Given the description of an element on the screen output the (x, y) to click on. 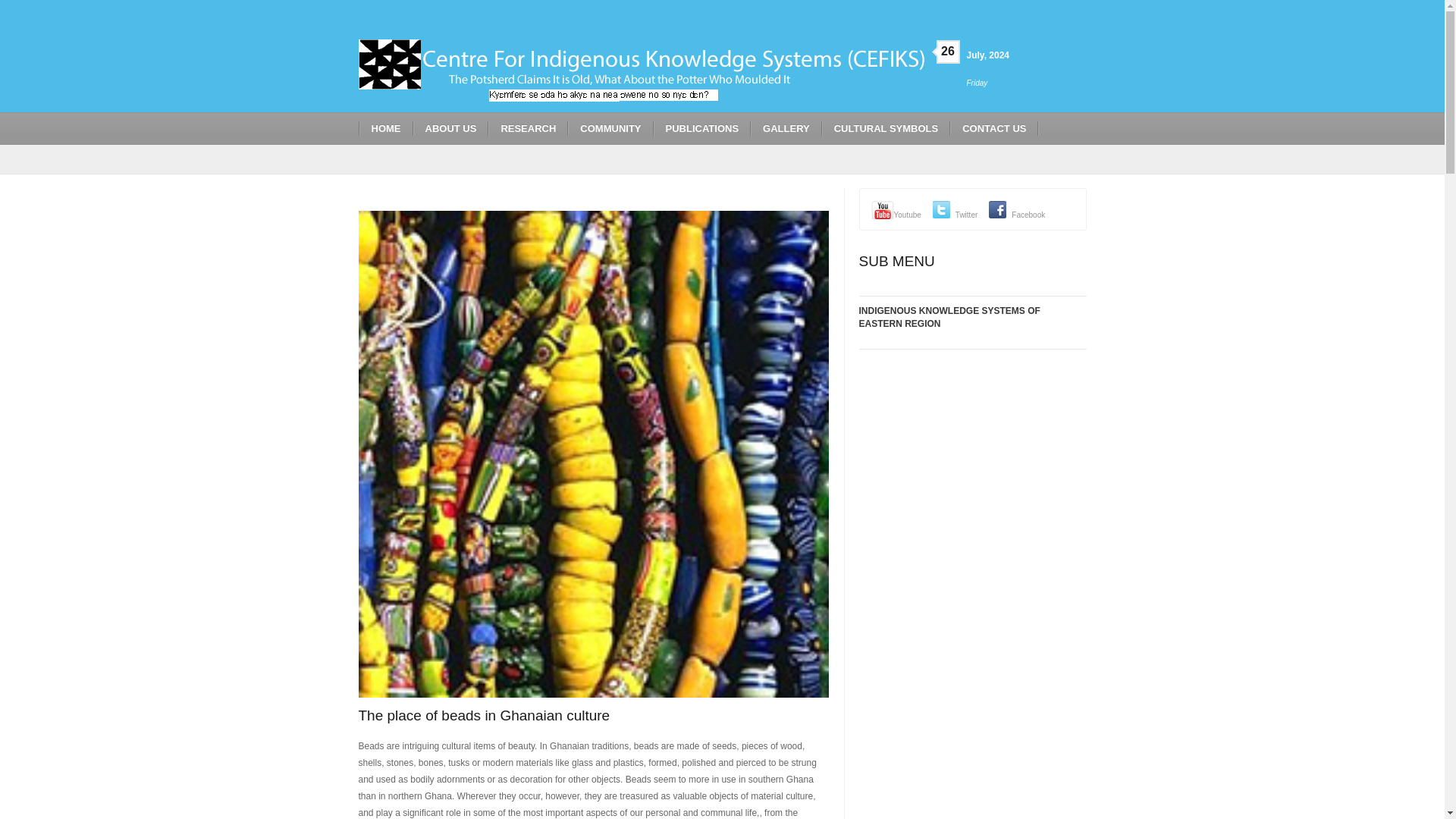
CULTURAL SYMBOLS (885, 128)
GALLERY (786, 128)
CONTACT US (993, 128)
COMMUNITY (610, 128)
HOME (385, 128)
PUBLICATIONS (702, 128)
ABOUT US (450, 128)
BusinessNews (640, 70)
RESEARCH (528, 128)
